Given the description of an element on the screen output the (x, y) to click on. 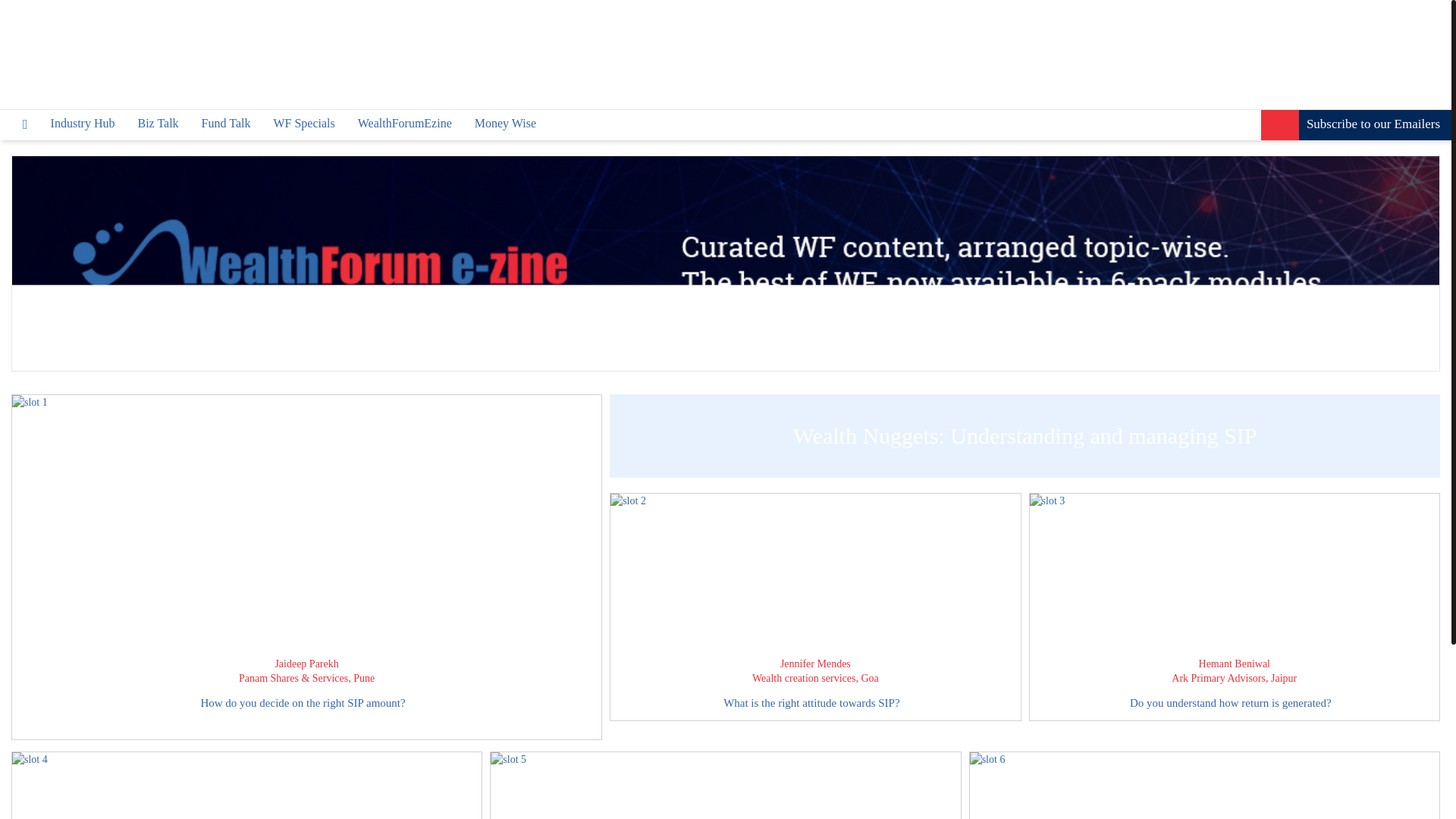
Biz Talk (156, 123)
Fund Talk (226, 123)
How do you decide on the right SIP amount? (306, 712)
Industry Hub (82, 123)
Do you understand how return is generated? (1234, 702)
WealthForumEzine (404, 123)
